Given the description of an element on the screen output the (x, y) to click on. 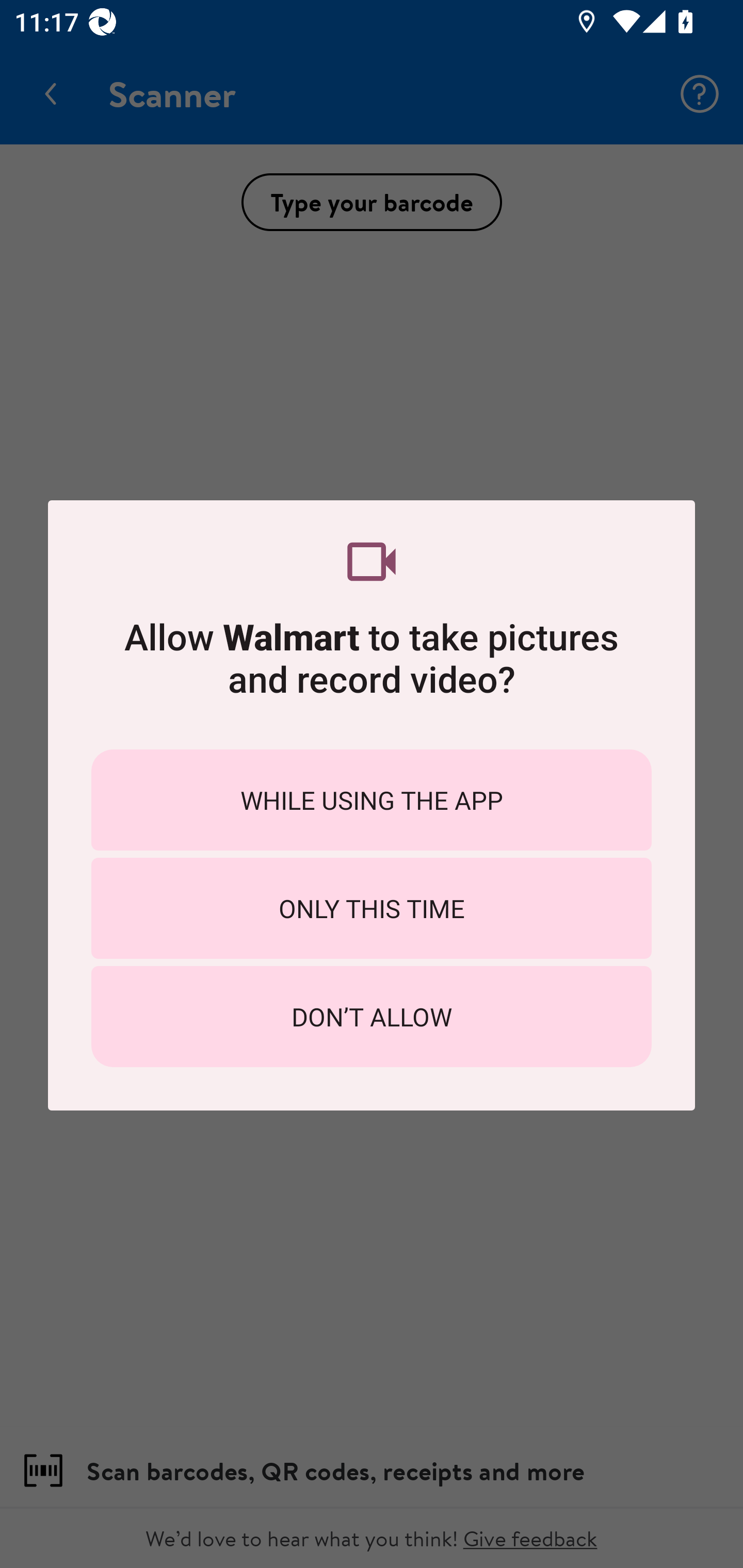
WHILE USING THE APP (371, 799)
ONLY THIS TIME (371, 908)
DON’T ALLOW (371, 1016)
